Given the description of an element on the screen output the (x, y) to click on. 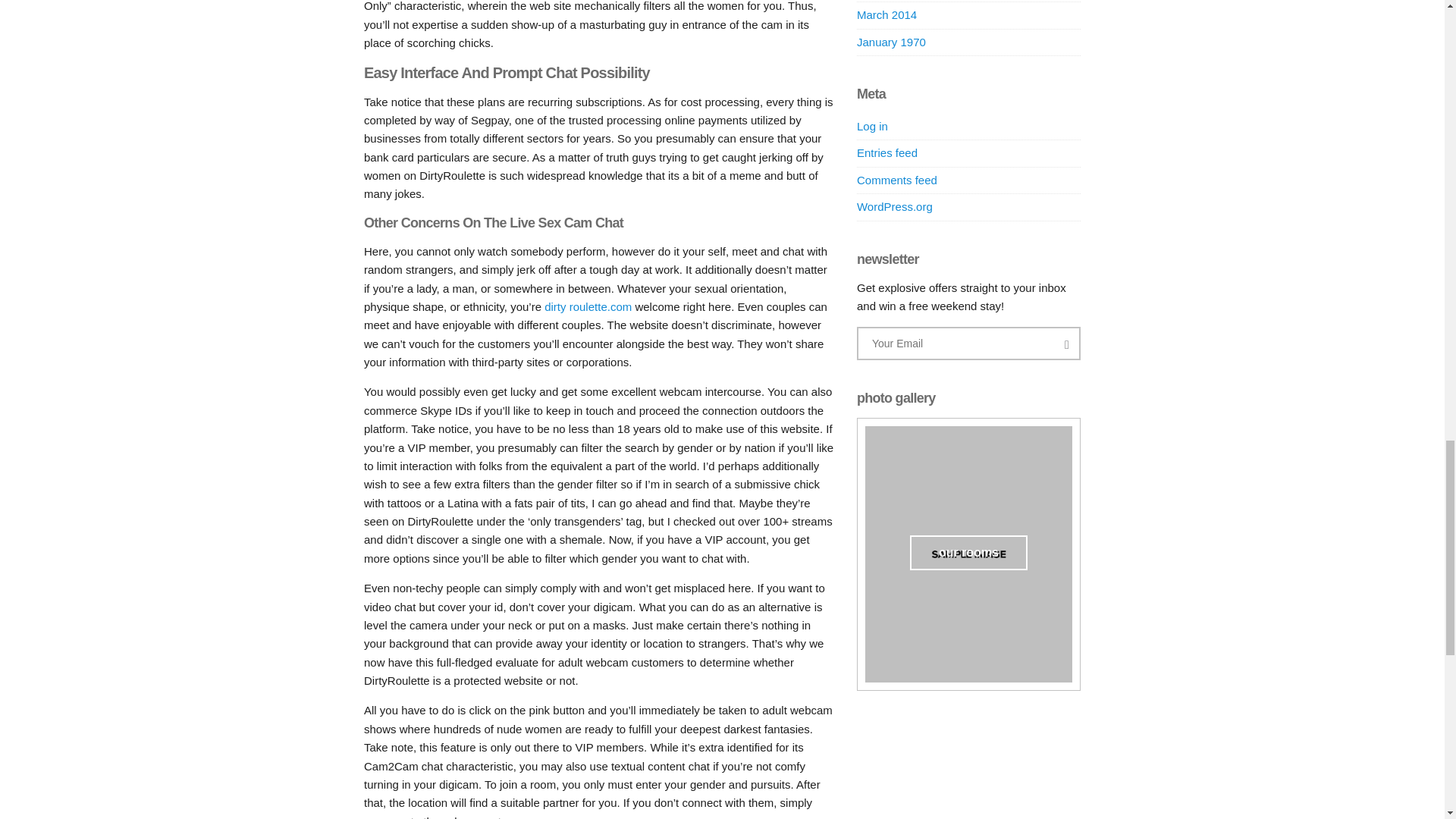
dirty roulette.com (587, 306)
